Given the description of an element on the screen output the (x, y) to click on. 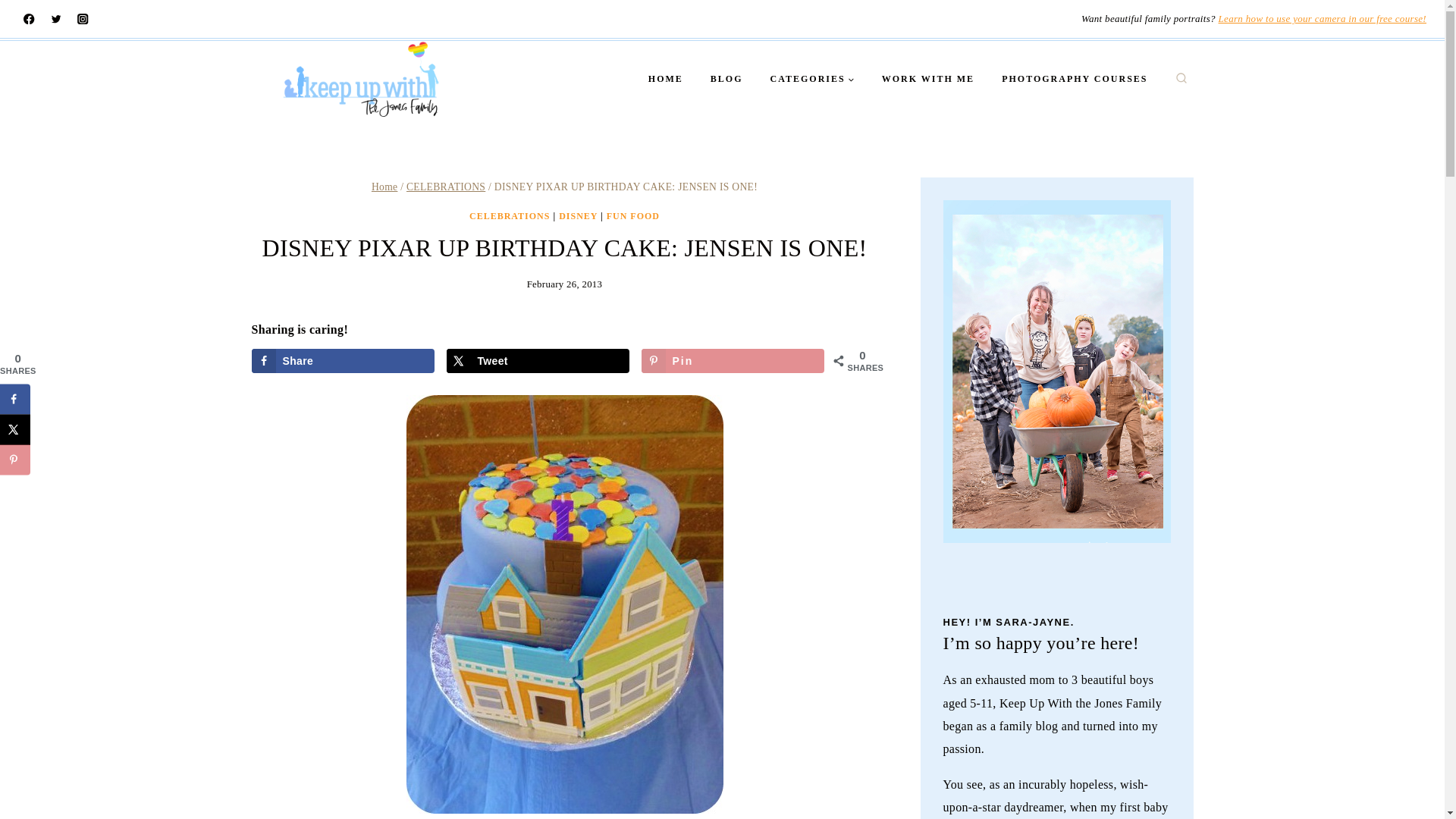
Save to Pinterest (15, 459)
HOME (665, 79)
FUN FOOD (633, 215)
CELEBRATIONS (445, 186)
Learn how to use your camera in our free course! (1322, 18)
Share on Facebook (343, 360)
WORK WITH ME (927, 79)
Share (343, 360)
Share on X (538, 360)
Tweet (538, 360)
